Given the description of an element on the screen output the (x, y) to click on. 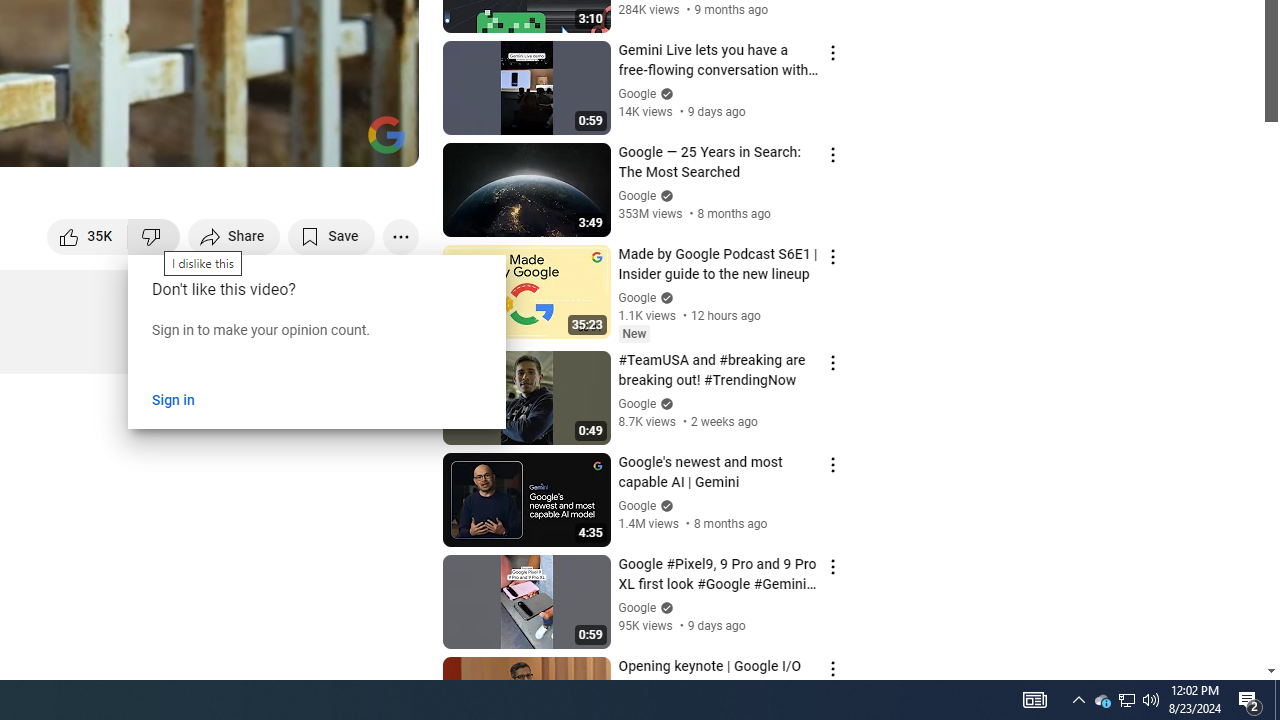
Save to playlist (331, 236)
New (634, 333)
Subtitles/closed captions unavailable (190, 142)
Autoplay is on (141, 142)
Theater mode (t) (333, 142)
Dislike this video (154, 236)
Share (234, 236)
Full screen (f) (382, 142)
Action menu (832, 668)
